Given the description of an element on the screen output the (x, y) to click on. 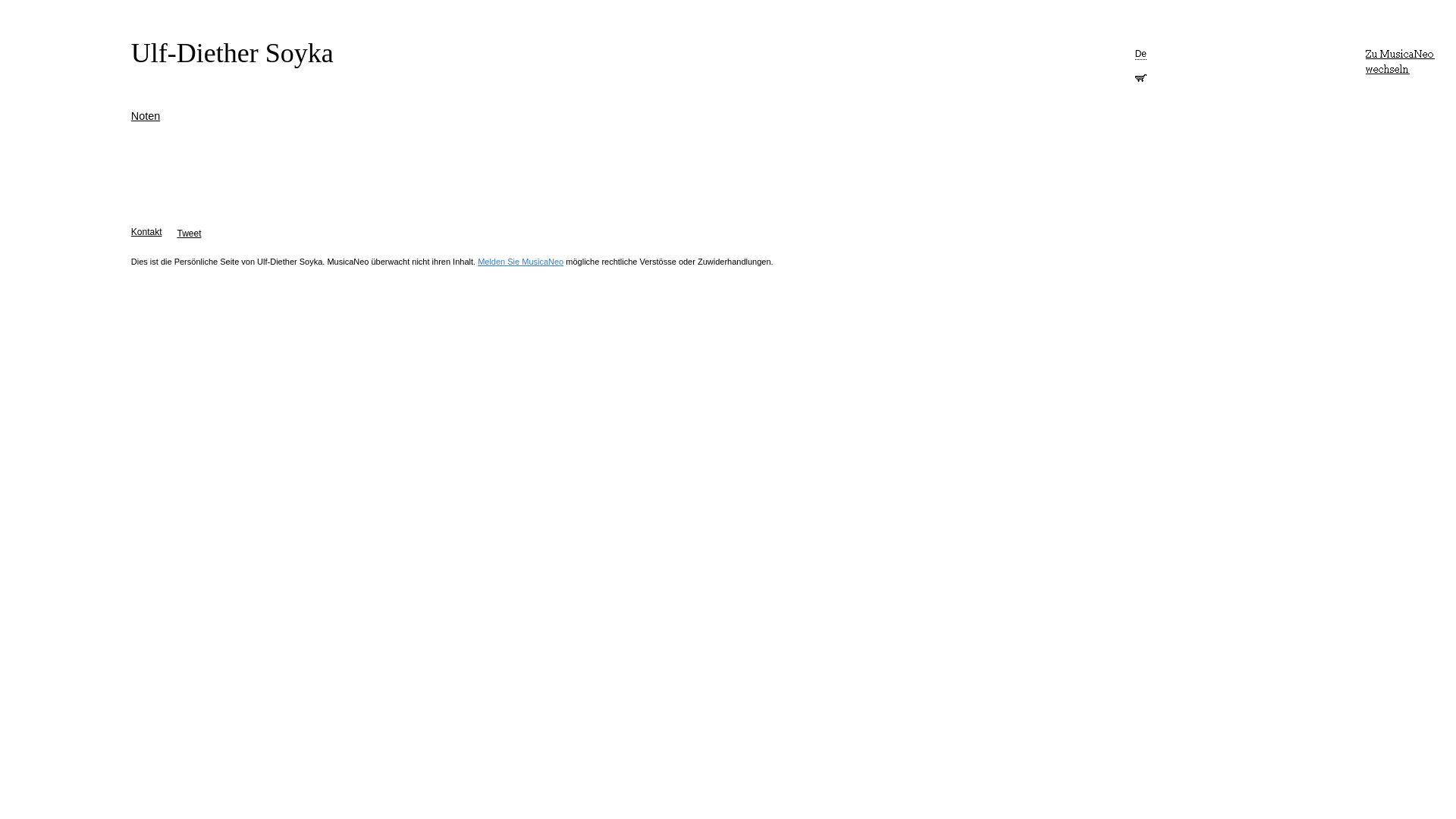
Einkaufskorb Element type: hover (1140, 75)
De Element type: text (1140, 53)
Melden Sie MusicaNeo Element type: text (520, 261)
Tweet Element type: text (189, 233)
Noten Element type: text (145, 115)
Kontakt Element type: text (146, 231)
